Given the description of an element on the screen output the (x, y) to click on. 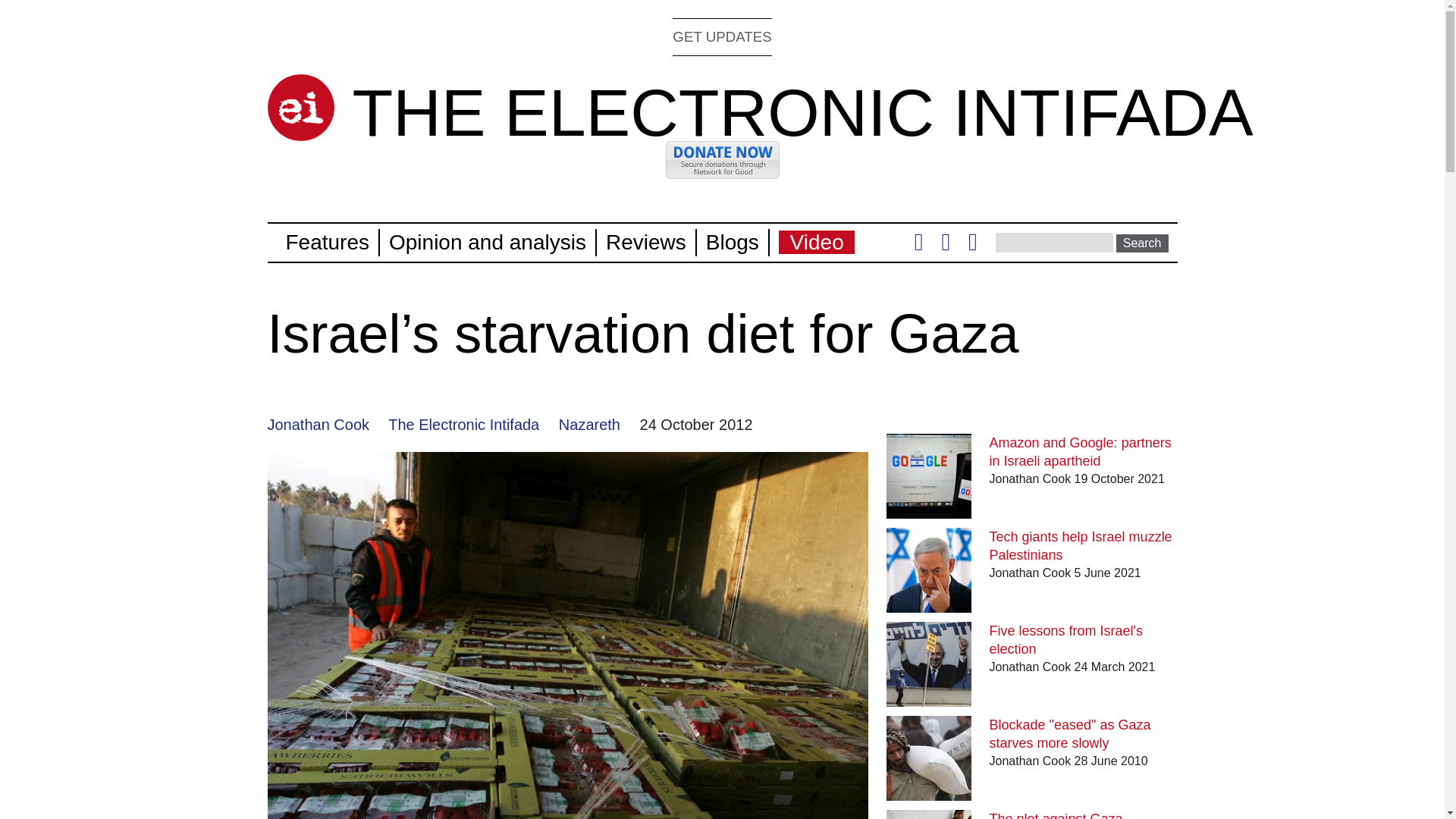
Home (299, 107)
Search (1142, 243)
Nazareth (589, 424)
The Electronic Intifada (463, 424)
GET UPDATES (721, 37)
Home (802, 112)
Jonathan Cook (317, 424)
THE ELECTRONIC INTIFADA (802, 112)
Enter the terms you wish to search for. (1054, 242)
